Given the description of an element on the screen output the (x, y) to click on. 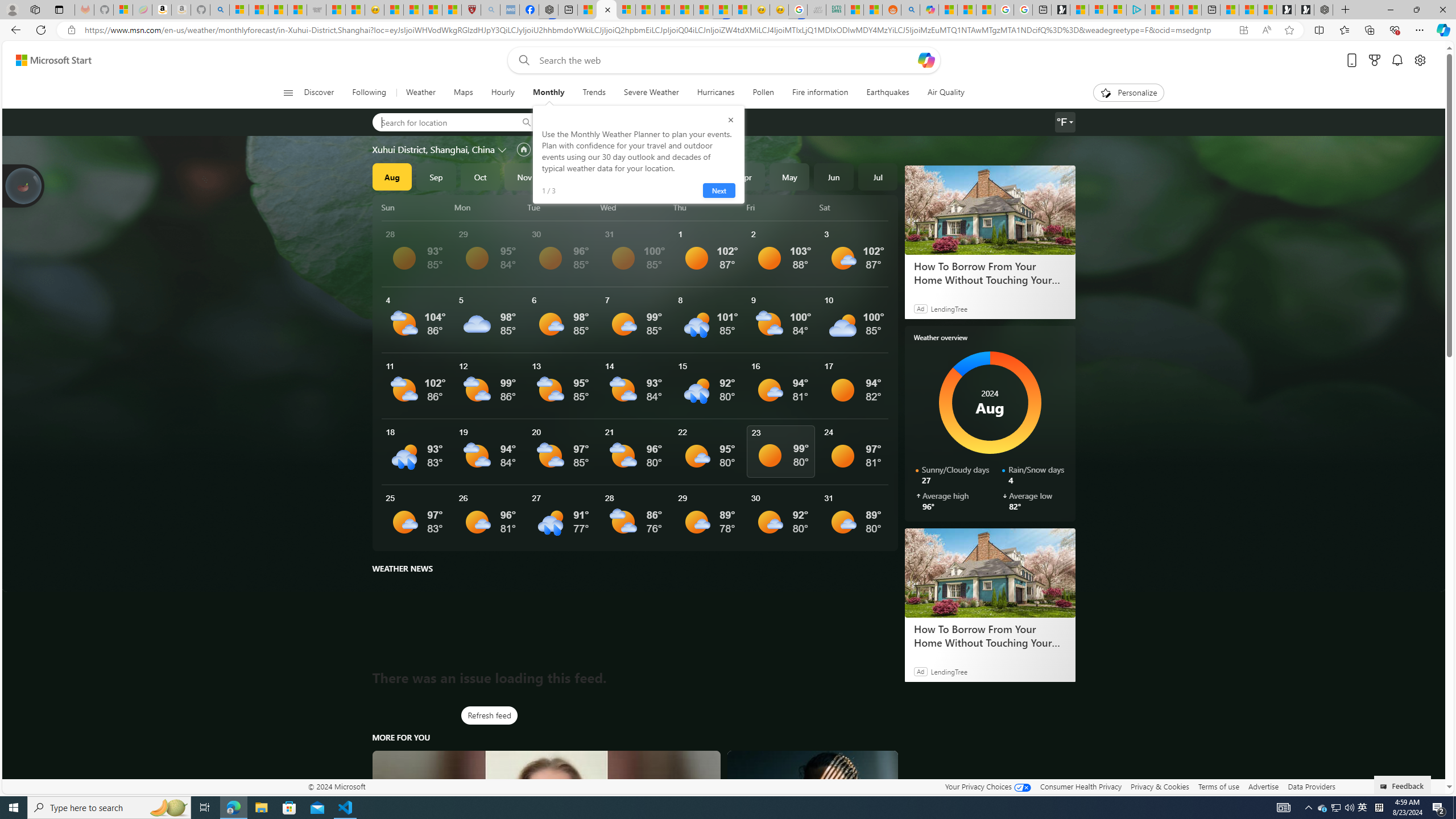
Air Quality (945, 92)
Sep (435, 176)
